Given the description of an element on the screen output the (x, y) to click on. 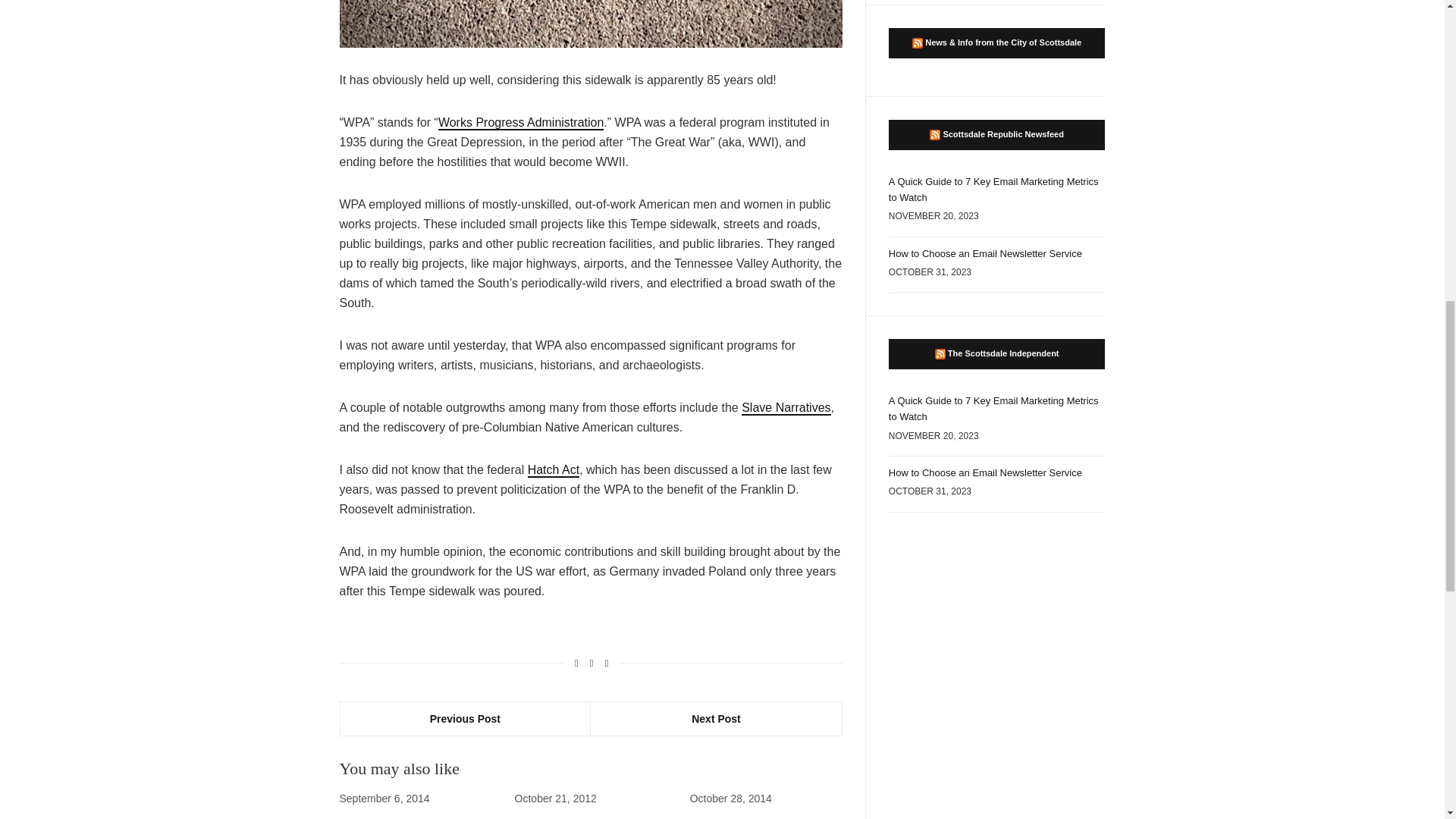
Hatch Act (553, 470)
Slave Narratives (785, 408)
Next Post (716, 718)
Previous Post (465, 718)
Works Progress Administration (521, 123)
